Given the description of an element on the screen output the (x, y) to click on. 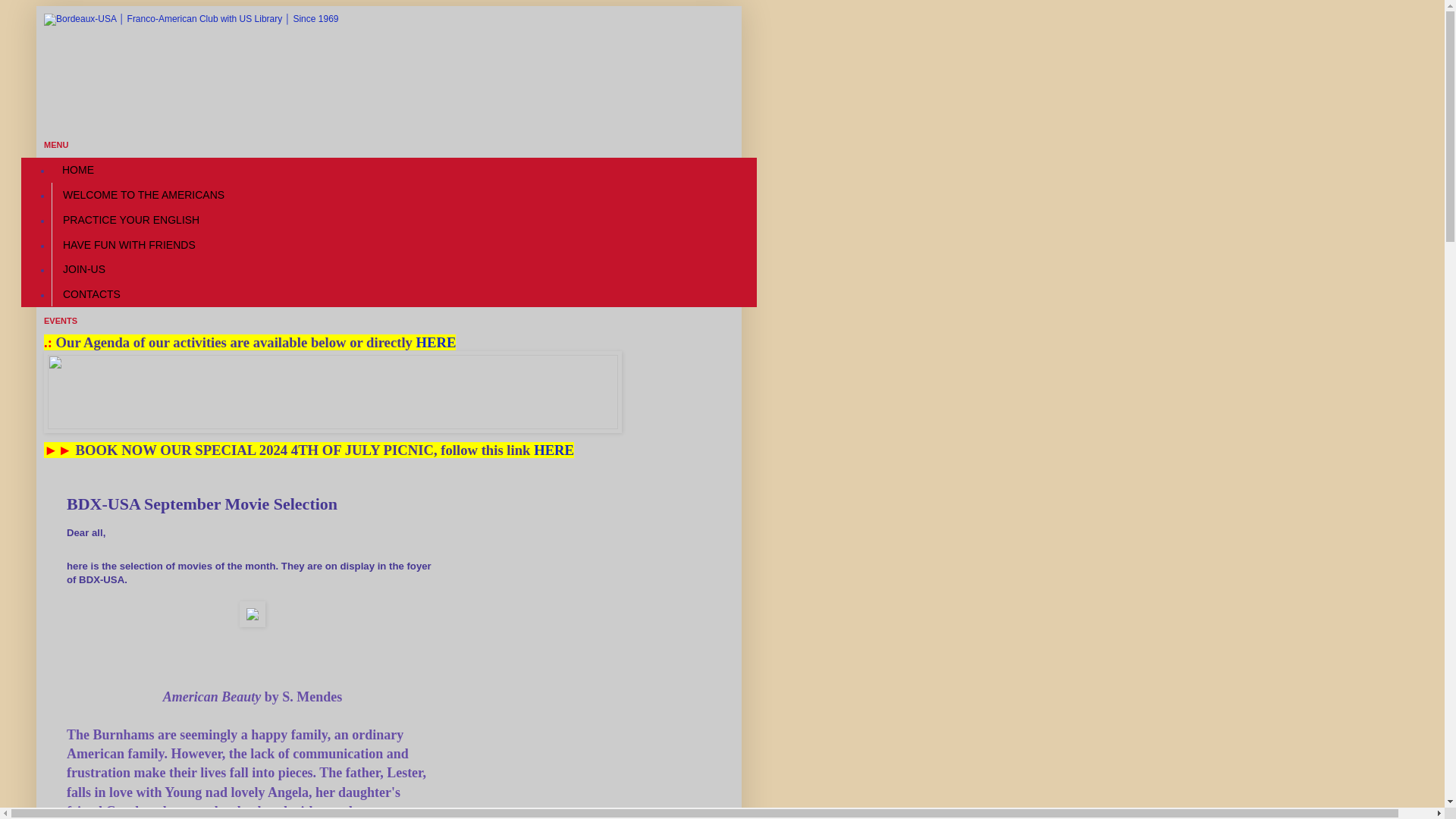
WELCOME TO THE AMERICANS (142, 195)
HERE (436, 342)
PRACTICE YOUR ENGLISH (129, 219)
HERE (553, 449)
JOIN-US (83, 269)
CONTACTS (90, 294)
HOME (77, 170)
HAVE FUN WITH FRIENDS (128, 244)
